Given the description of an element on the screen output the (x, y) to click on. 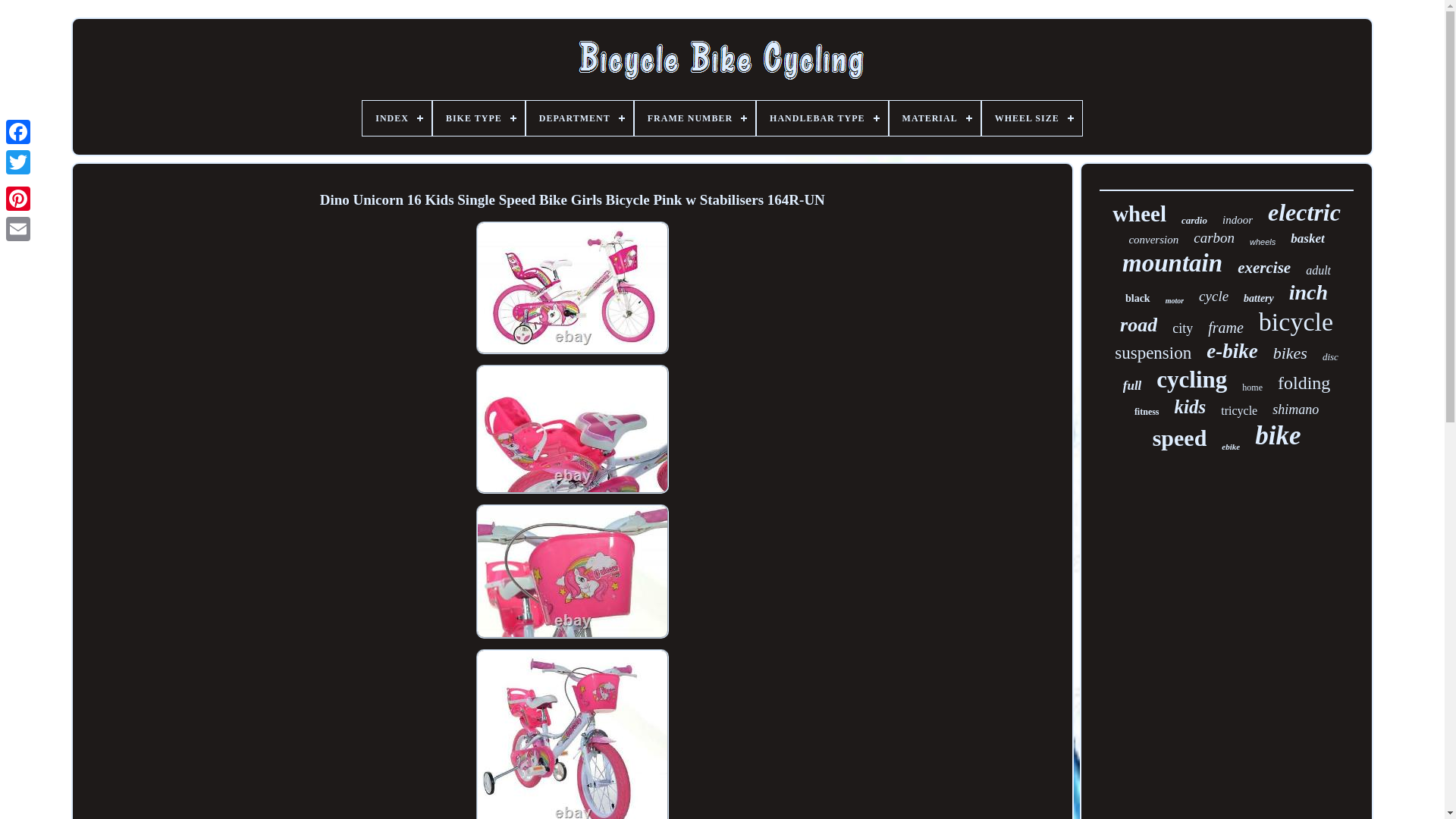
BRAND (620, 117)
BIKE TYPE (537, 117)
INDEX (454, 117)
